Given the description of an element on the screen output the (x, y) to click on. 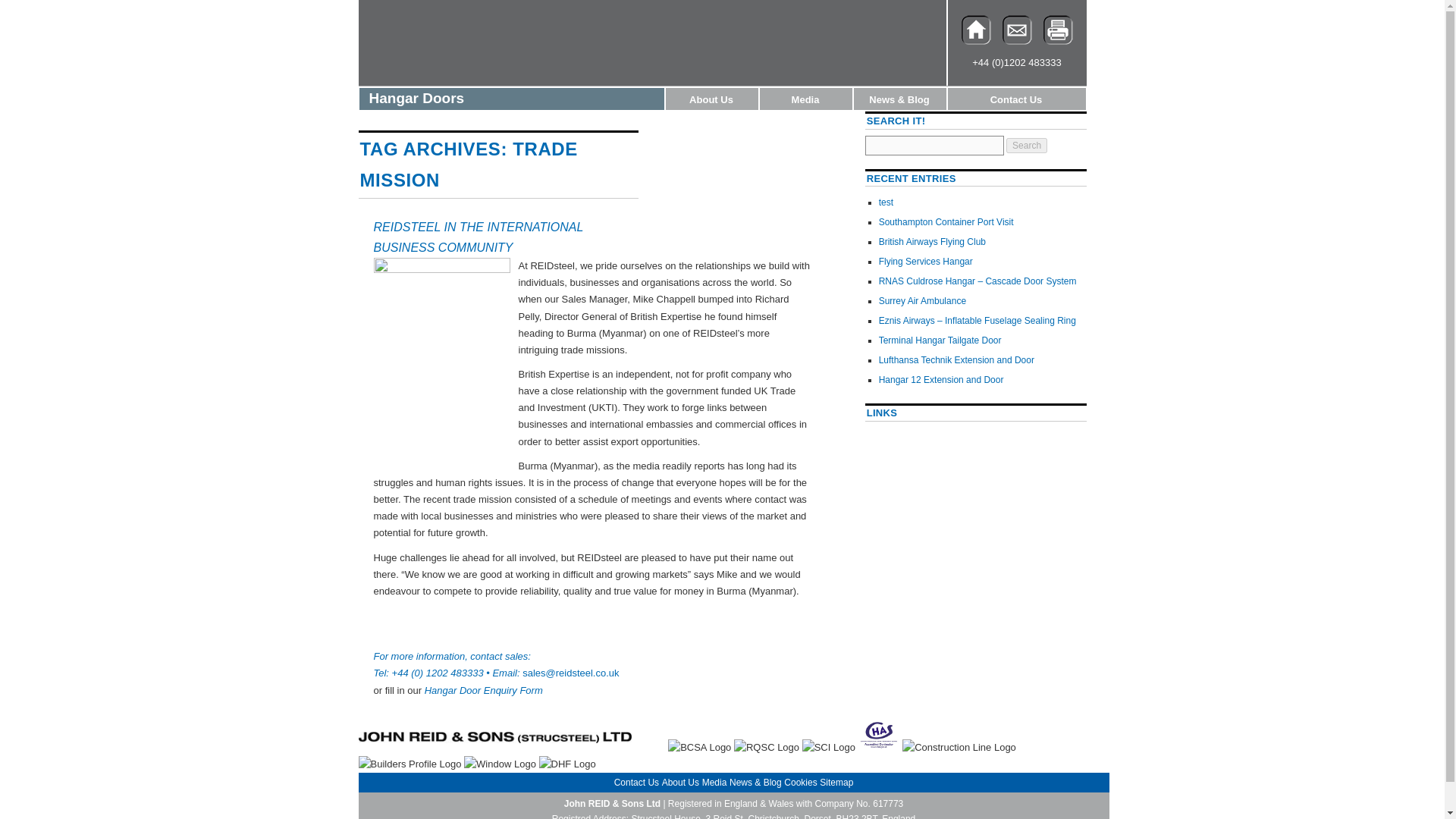
REIDSTEEL IN THE INTERNATIONAL BUSINESS COMMUNITY (477, 236)
About Us (711, 98)
Hangar Doors (511, 98)
